Given the description of an element on the screen output the (x, y) to click on. 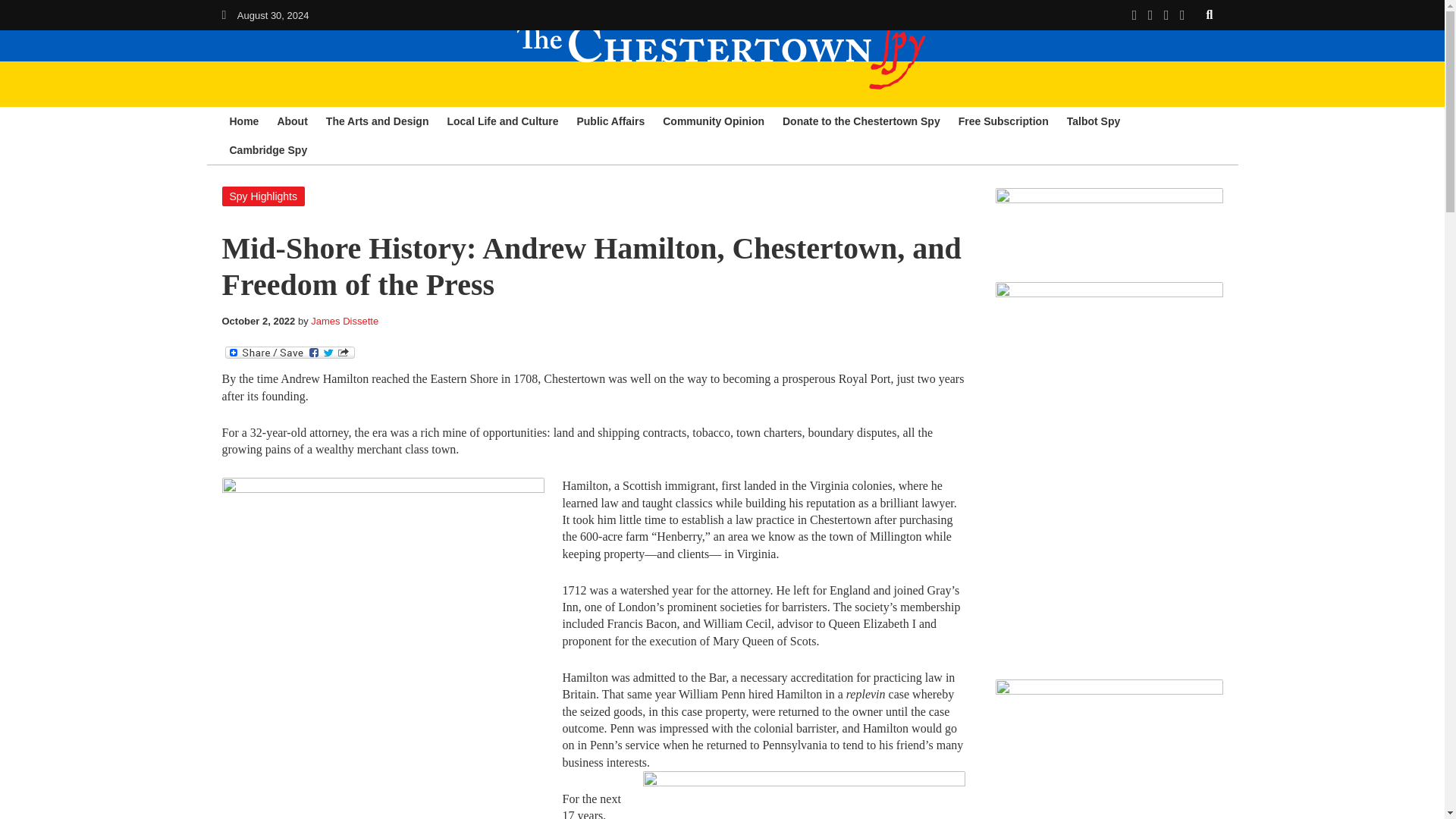
Search (1209, 14)
Search (1209, 14)
Search (1209, 14)
